Given the description of an element on the screen output the (x, y) to click on. 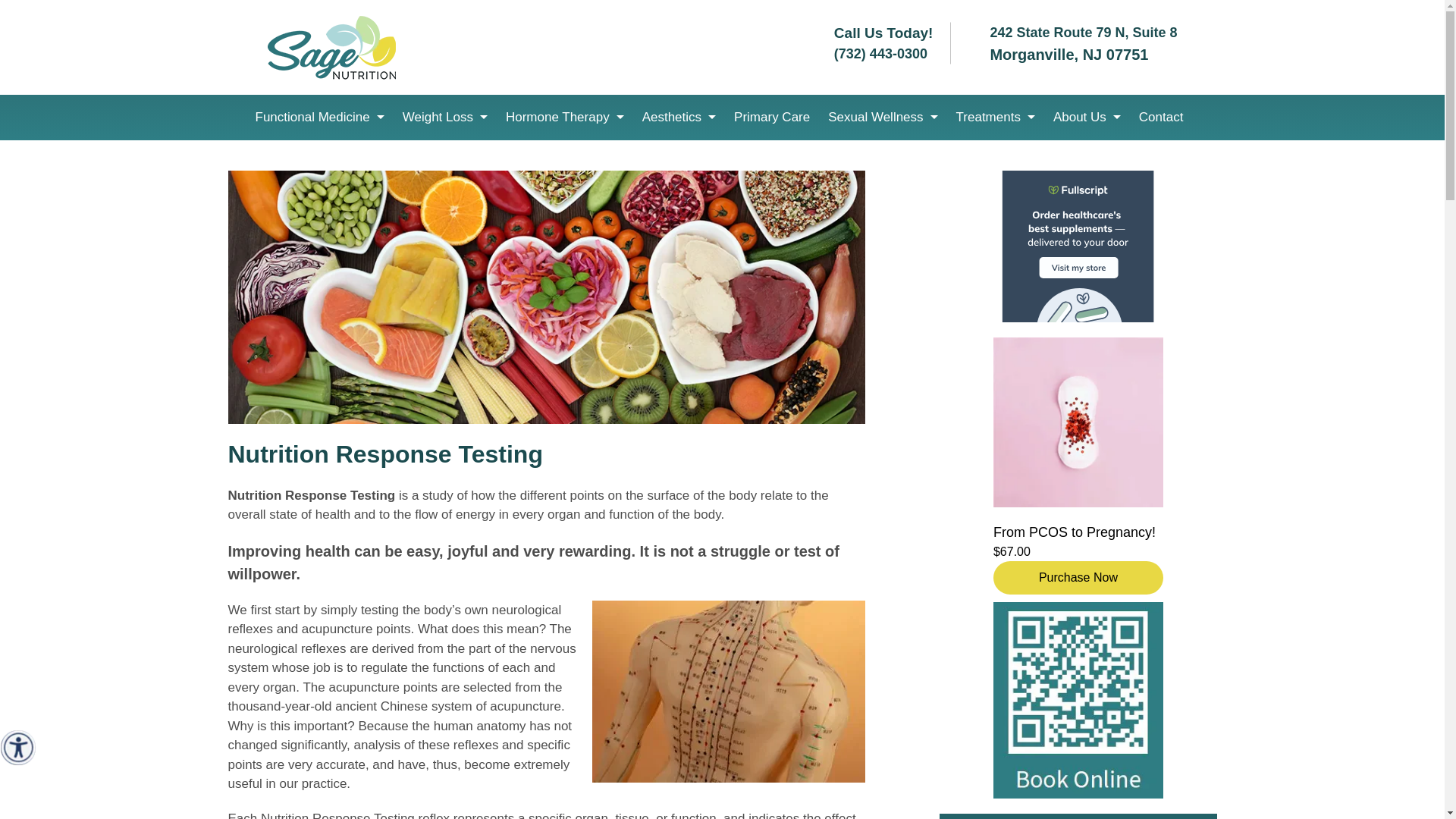
Primary Care (771, 117)
Treatments (995, 117)
Weight Loss (444, 117)
Accessibility Helper sidebar (18, 747)
Hormone Therapy (564, 117)
Functional Medicine (319, 117)
Sexual Wellness (882, 117)
Aesthetics (679, 117)
About Us (1086, 117)
Contact (1160, 117)
